Given the description of an element on the screen output the (x, y) to click on. 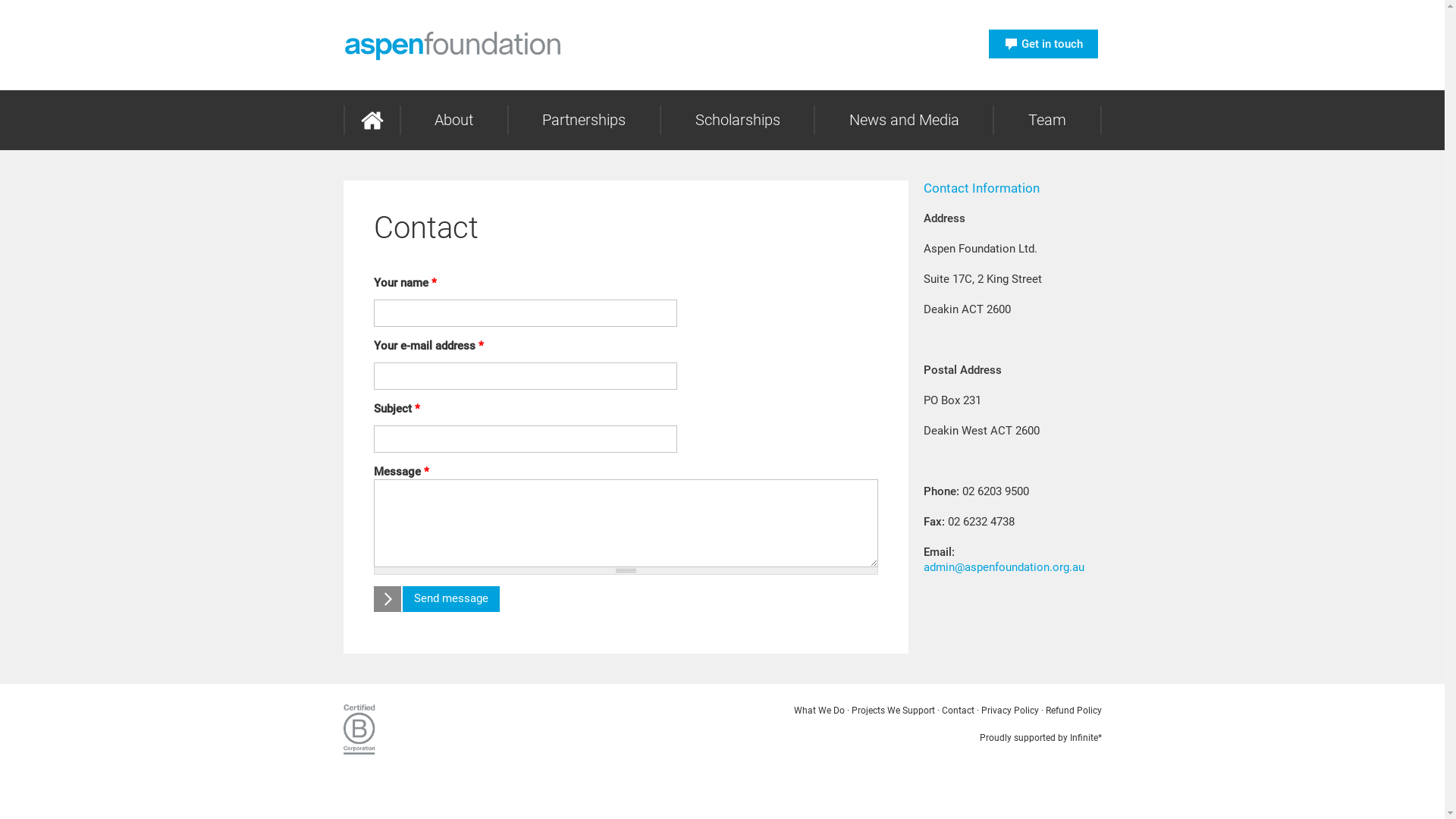
 Home Element type: text (371, 120)
Contact Element type: text (957, 710)
admin@aspenfoundation.org.au Element type: text (1003, 567)
Send message Element type: text (435, 598)
Partnerships Element type: text (583, 120)
Infinite* Element type: text (1085, 737)
News and Media Element type: text (903, 120)
Skip to content Element type: text (42, 10)
Get in touch Element type: text (1043, 43)
Privacy Policy Element type: text (1009, 710)
Refund Policy Element type: text (1072, 710)
Projects We Support Element type: text (892, 710)
About Element type: text (453, 120)
Team Element type: text (1046, 120)
Scholarships Element type: text (737, 120)
What We Do Element type: text (818, 710)
